Given the description of an element on the screen output the (x, y) to click on. 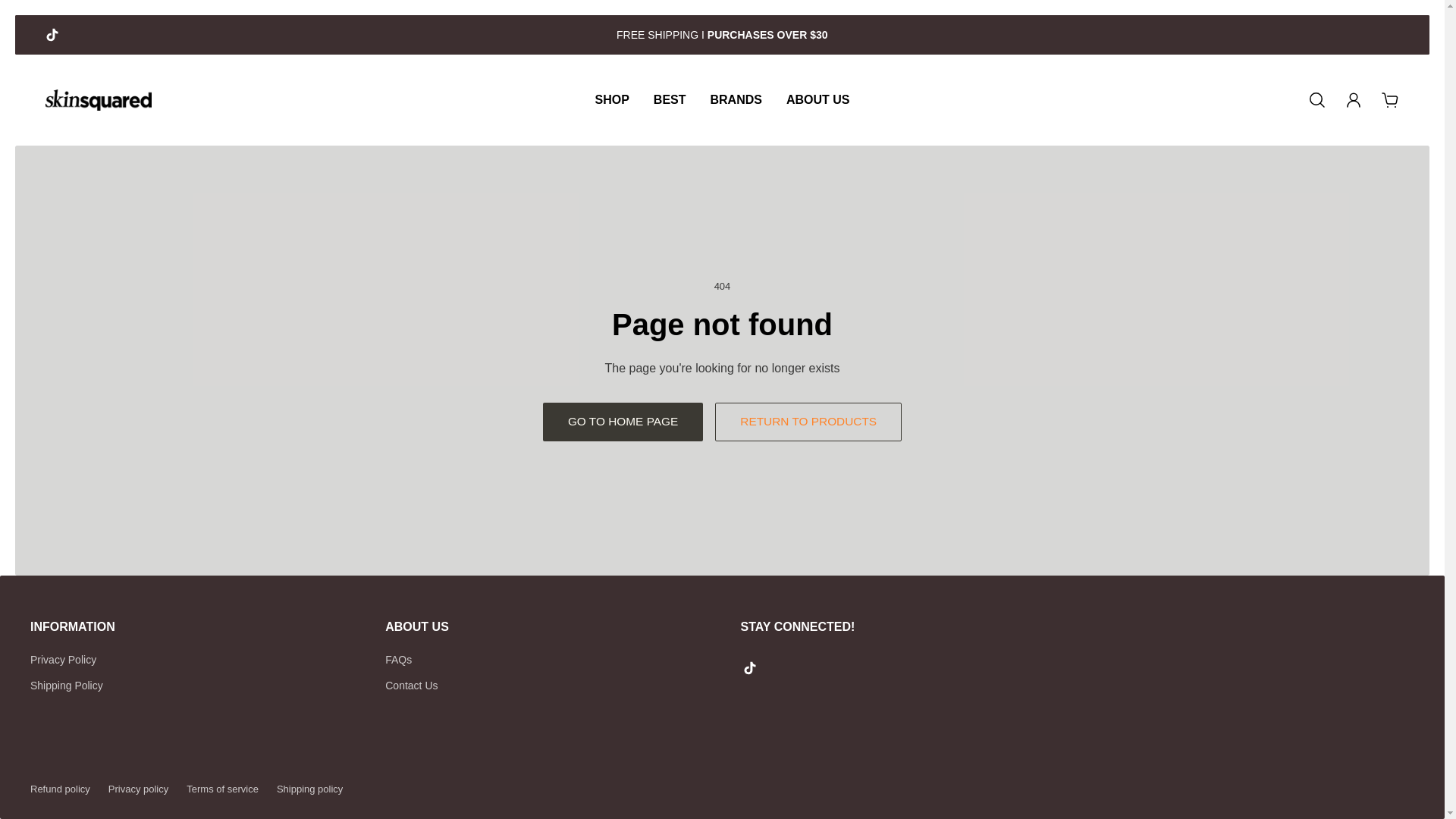
Privacy policy (137, 789)
Shipping policy (309, 789)
Privacy Policy (66, 659)
FAQs (411, 659)
BRANDS (735, 99)
GO TO HOME PAGE (623, 421)
RETURN TO PRODUCTS (807, 421)
BEST (670, 99)
SHOP (611, 99)
Skip to content (24, 21)
